Given the description of an element on the screen output the (x, y) to click on. 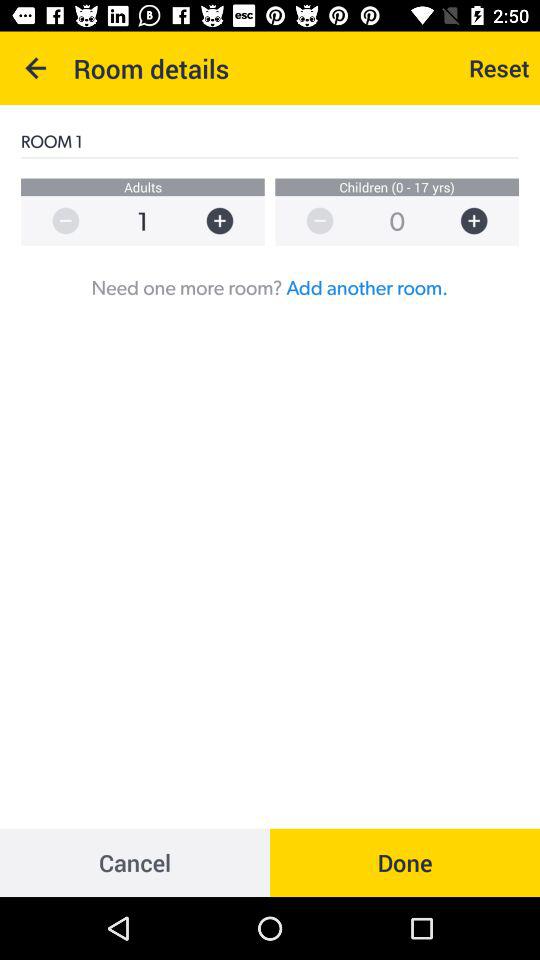
decrease number (55, 220)
